Given the description of an element on the screen output the (x, y) to click on. 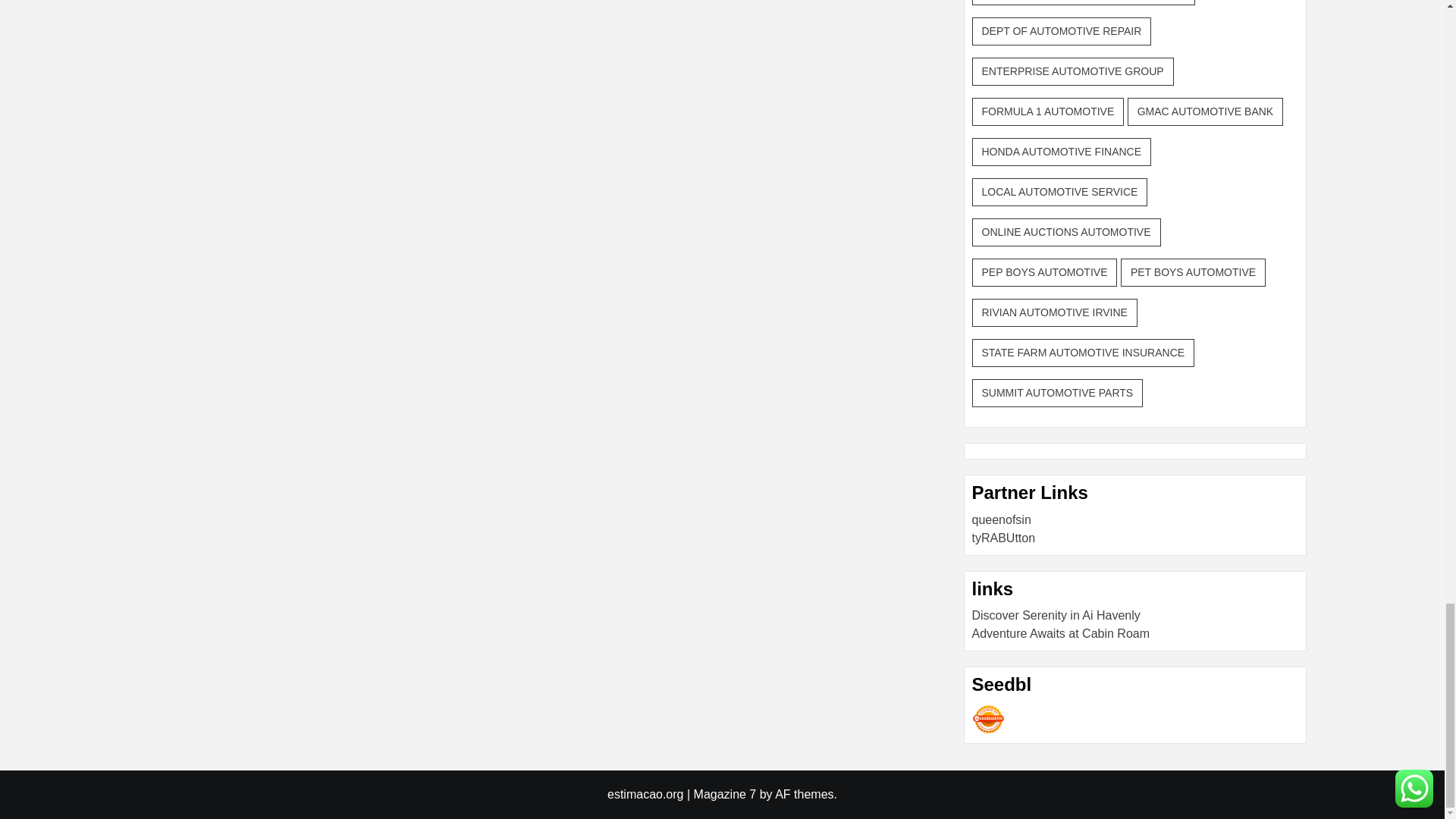
Seedbacklink (988, 718)
